Given the description of an element on the screen output the (x, y) to click on. 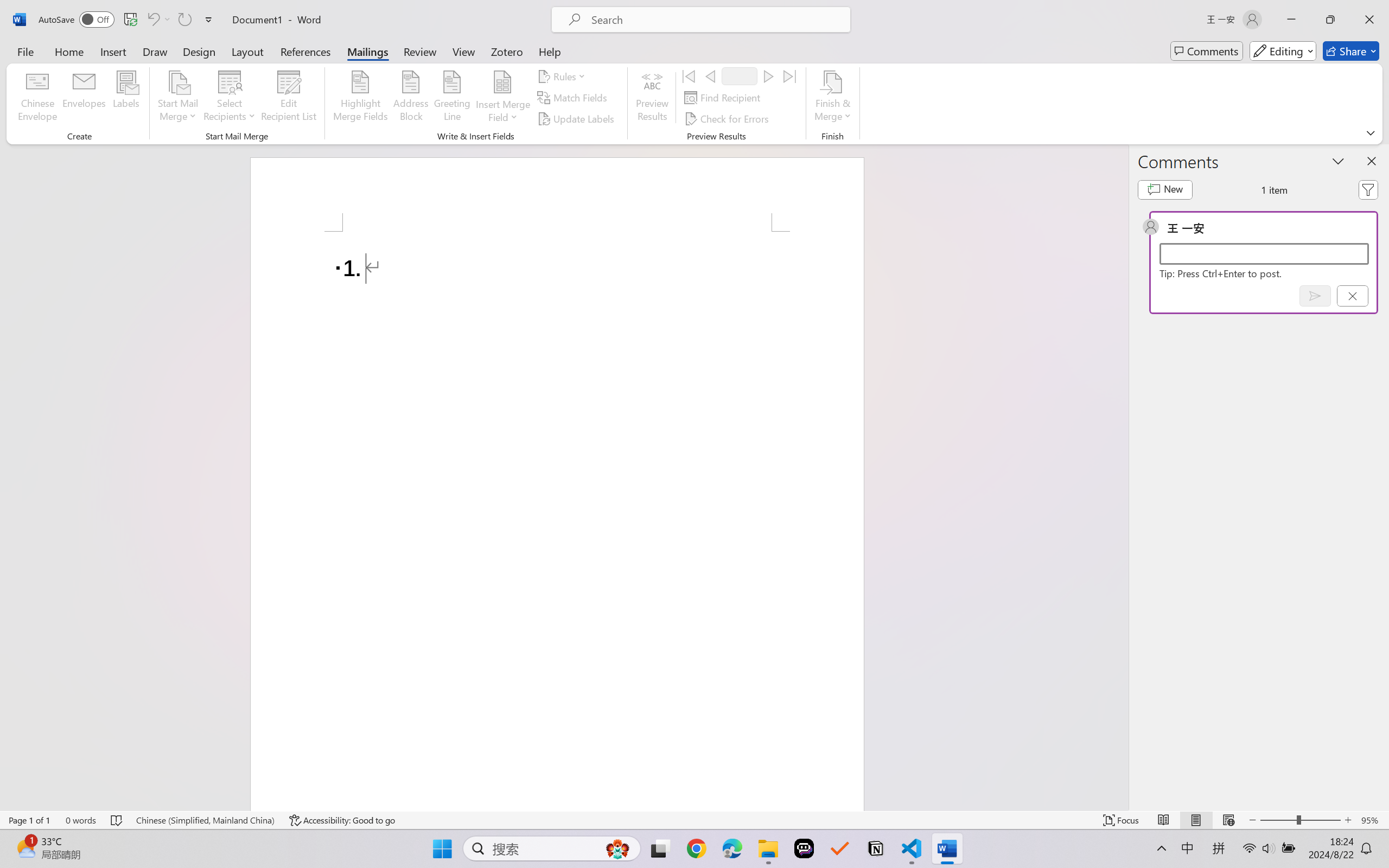
Filter (1367, 189)
Undo Number Default (152, 19)
Previous (709, 75)
Next (768, 75)
Repeat Doc Close (184, 19)
